Given the description of an element on the screen output the (x, y) to click on. 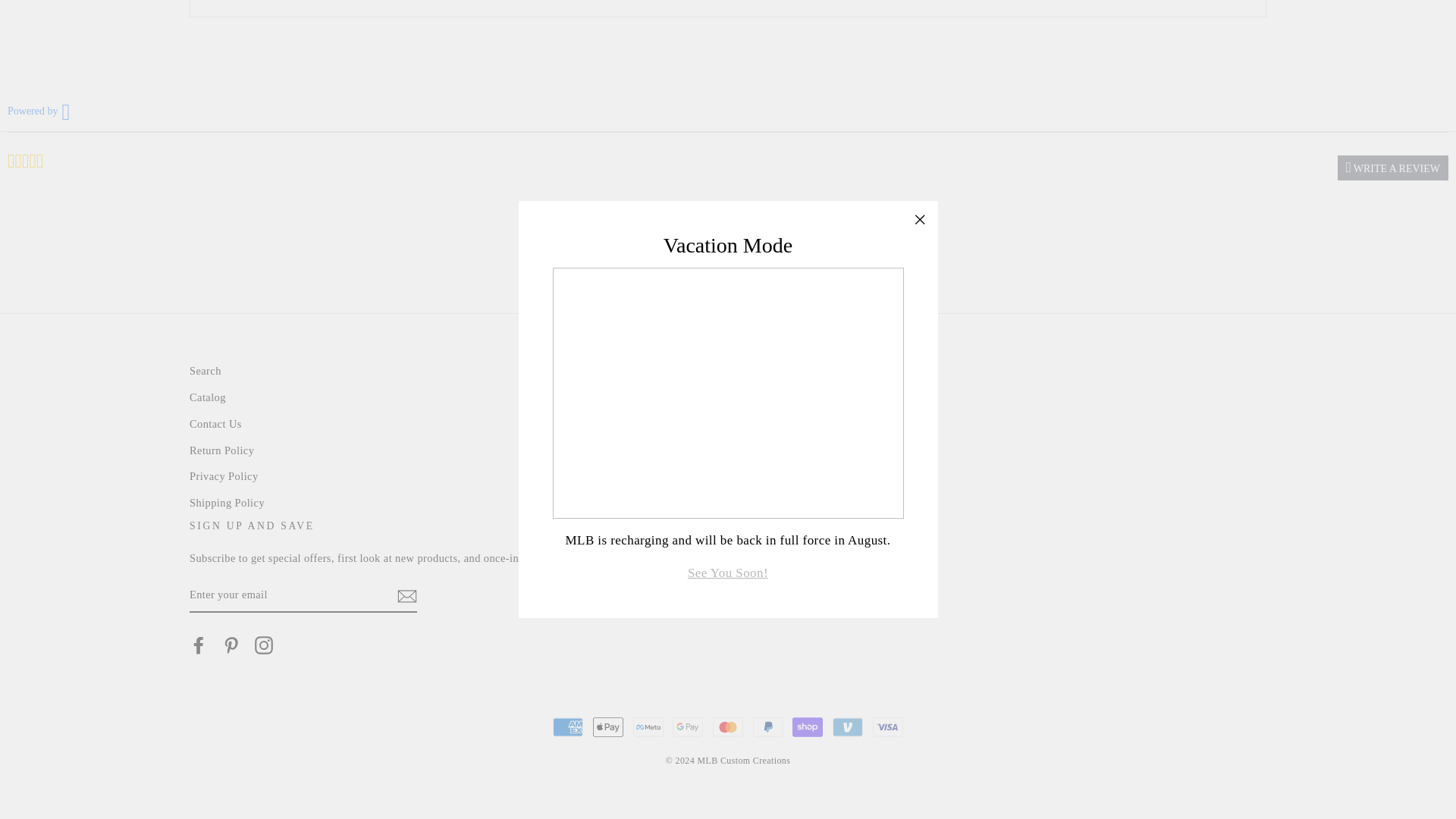
Google Pay (687, 726)
American Express (568, 726)
Apple Pay (607, 726)
Mastercard (727, 726)
PayPal (767, 726)
Meta Pay (648, 726)
